Given the description of an element on the screen output the (x, y) to click on. 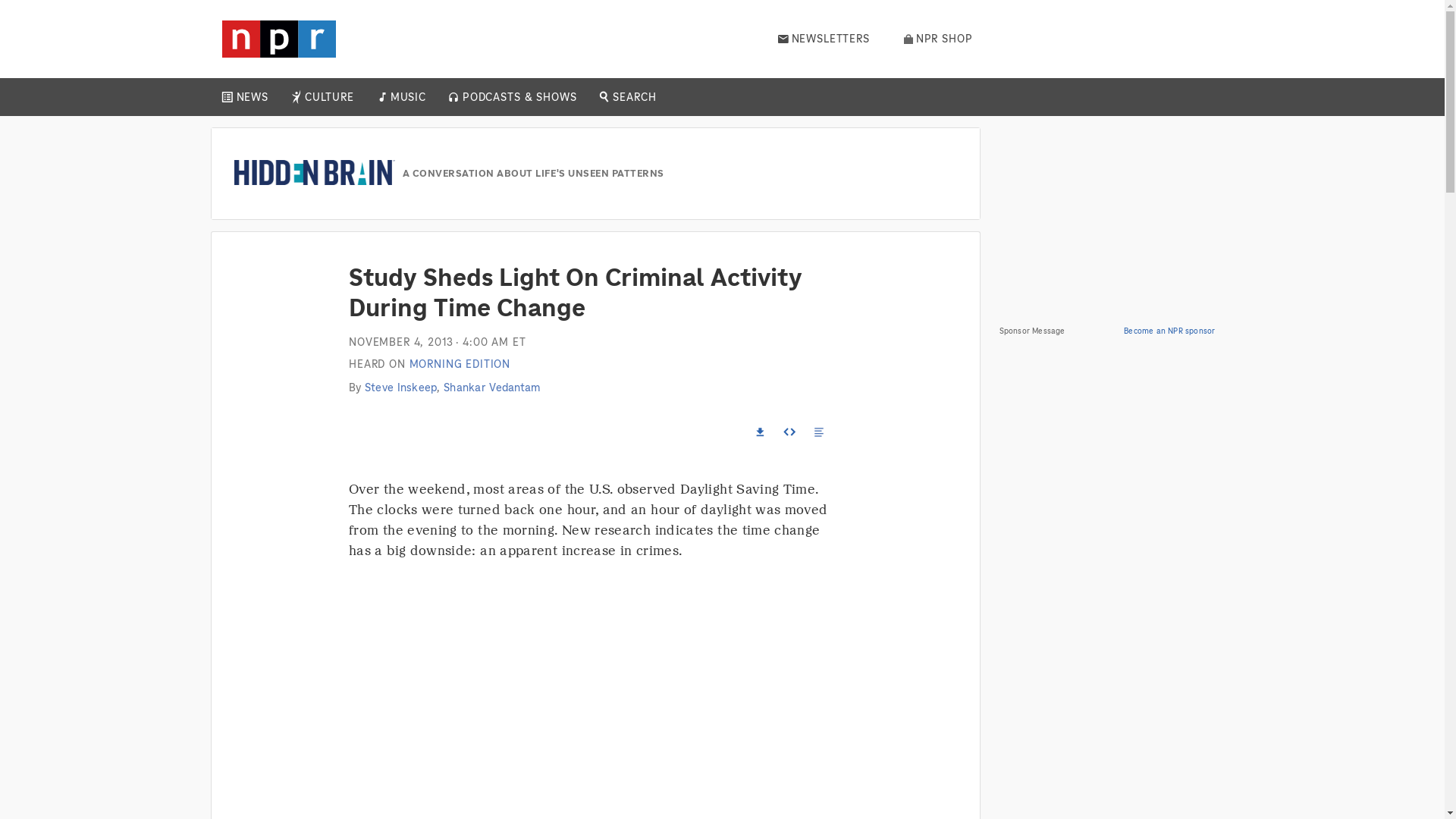
MUSIC (407, 96)
NEWSLETTERS (823, 38)
NEWS (251, 96)
CULTURE (328, 96)
NPR SHOP (938, 38)
